Given the description of an element on the screen output the (x, y) to click on. 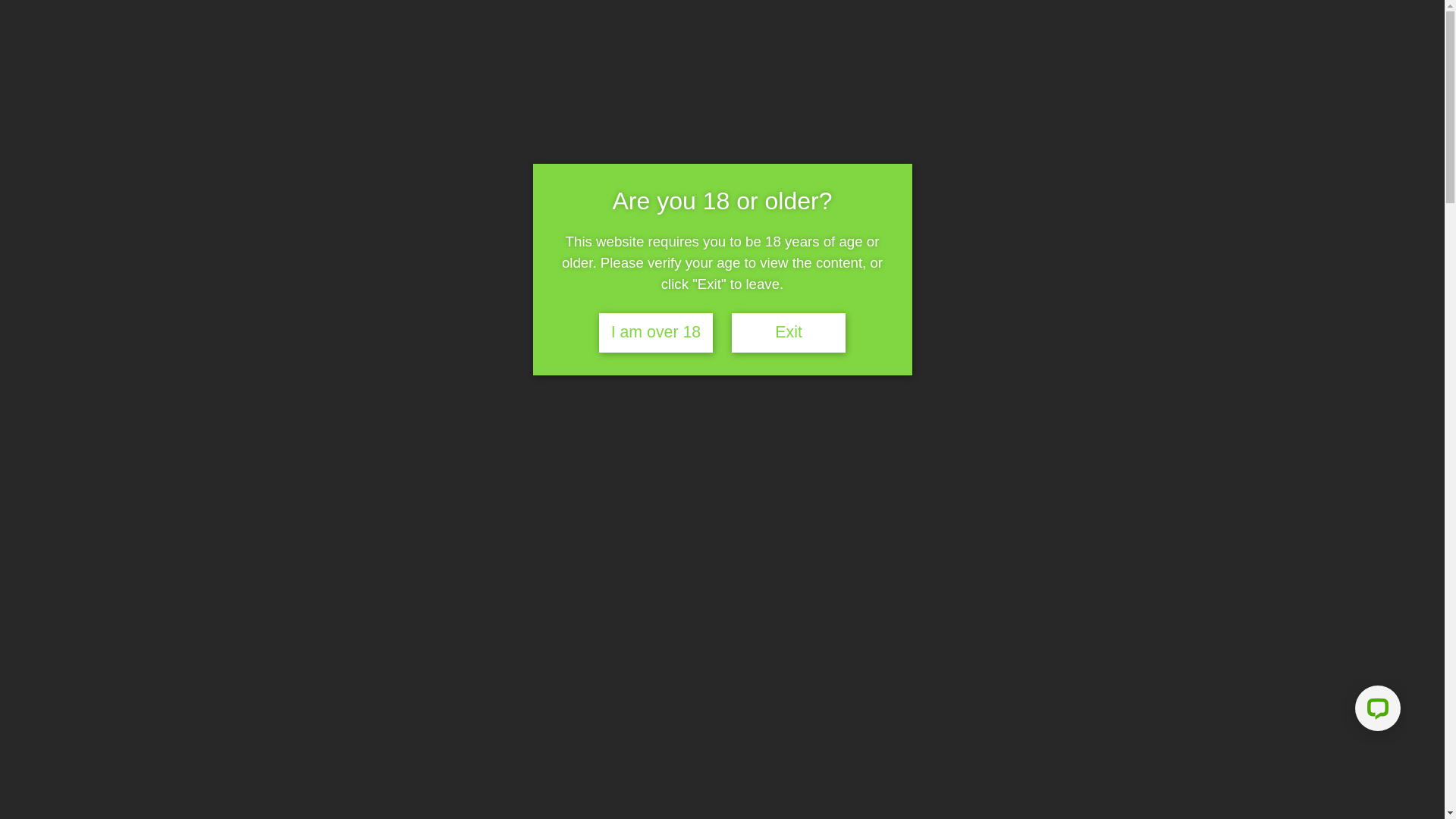
Exit Element type: text (788, 332)
PRICES Element type: text (908, 33)
CONTACT Element type: text (1104, 33)
LiveChat chat widget Element type: hover (1374, 711)
ROSTER Element type: text (847, 33)
OUR LADIES Element type: text (773, 33)
SEARCH Element type: text (547, 44)
SEARCH Element type: text (493, 77)
HOME Element type: text (706, 33)
I am over 18 Element type: text (655, 332)
EMPLOYMENT Element type: text (1021, 33)
FAQ Element type: text (954, 33)
Langtrees Roster Element type: text (663, 144)
NEW Element type: text (398, 388)
